Given the description of an element on the screen output the (x, y) to click on. 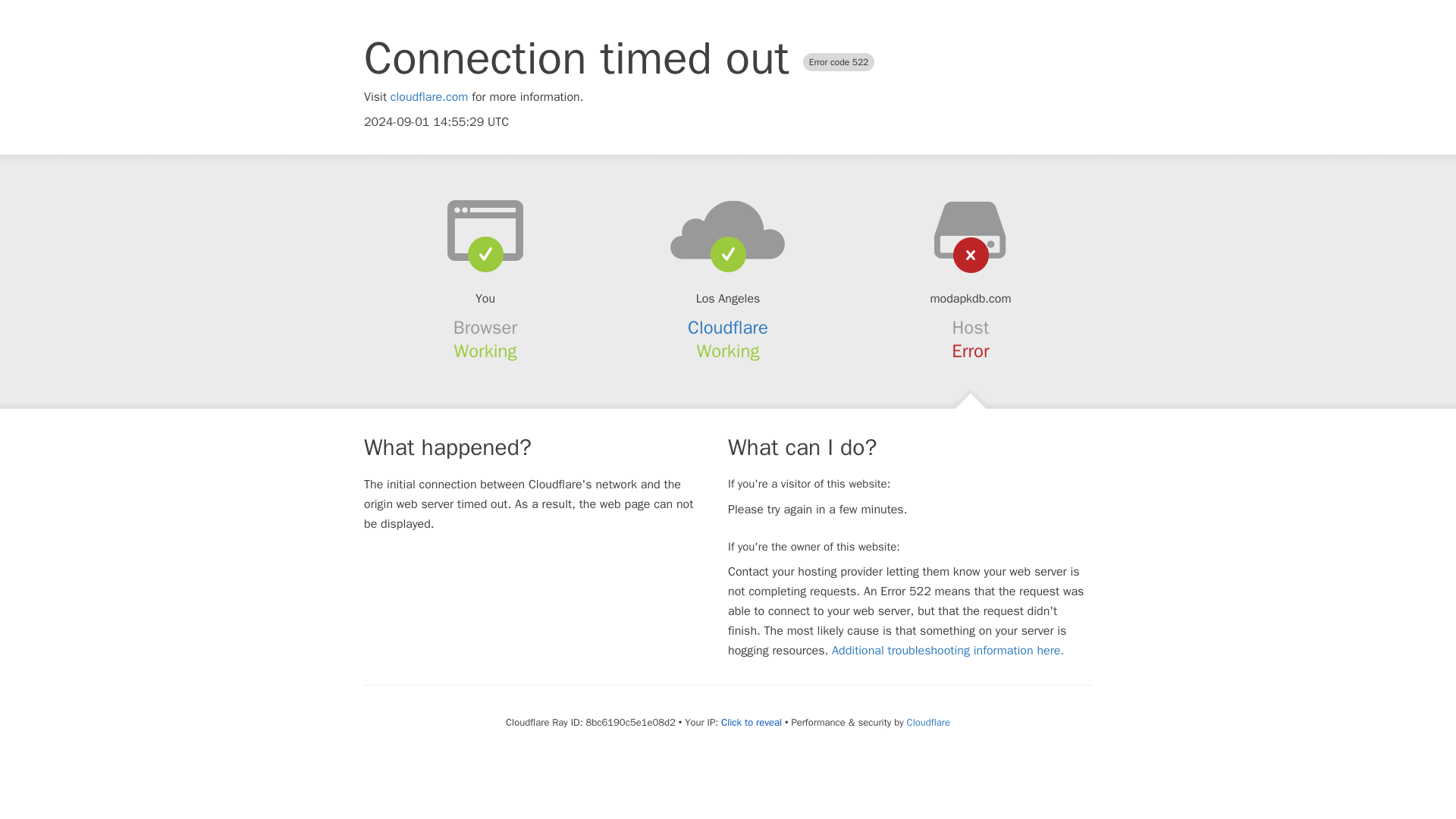
Cloudflare (928, 721)
Cloudflare (727, 327)
Additional troubleshooting information here. (947, 650)
cloudflare.com (429, 96)
Click to reveal (750, 722)
